Given the description of an element on the screen output the (x, y) to click on. 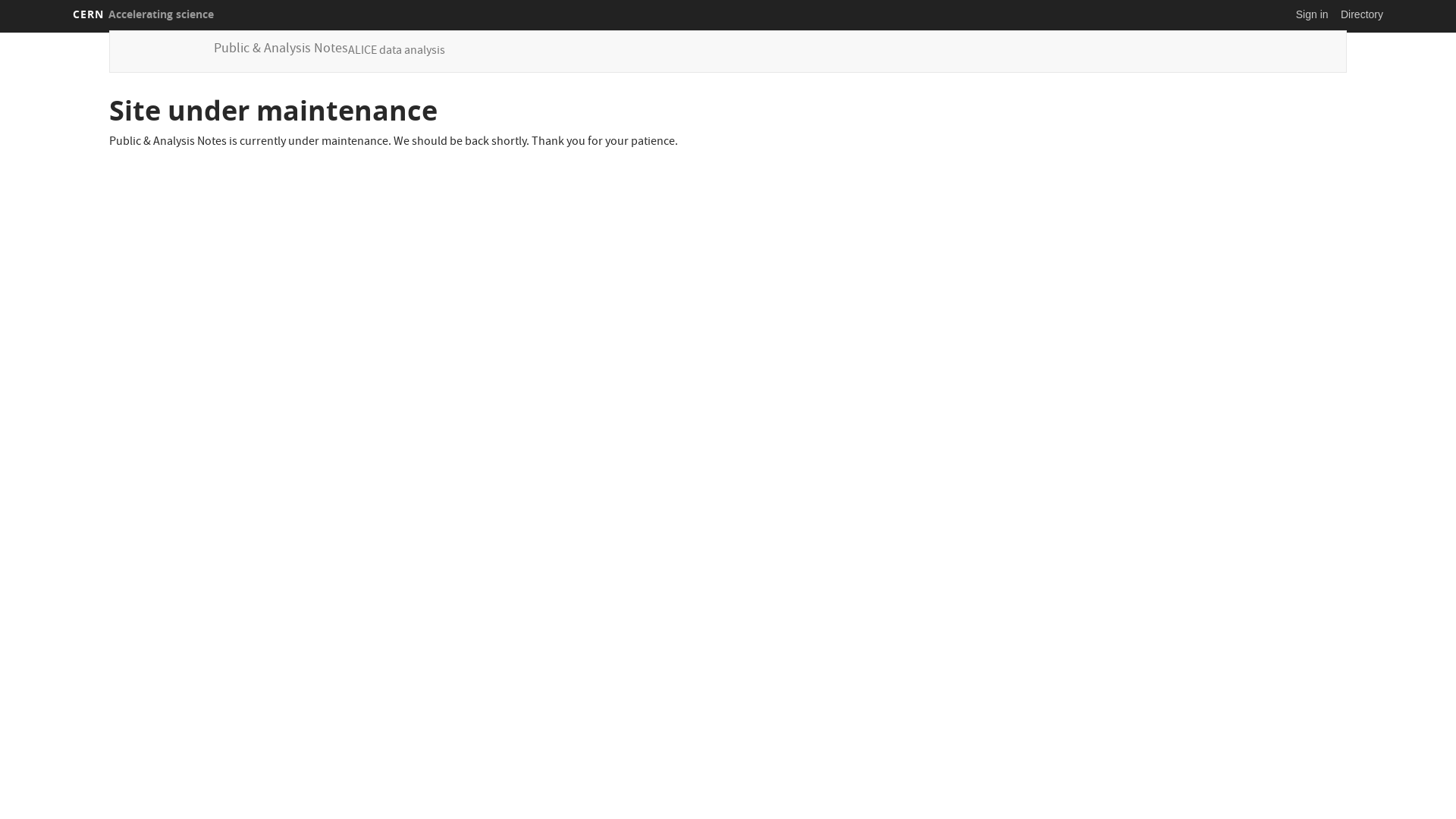
Directory Element type: text (1361, 14)
Public & Analysis Notes Element type: text (280, 50)
Skip to main content Element type: text (0, 30)
Sign in Element type: text (1311, 14)
CERN Accelerating science Element type: text (142, 14)
